Given the description of an element on the screen output the (x, y) to click on. 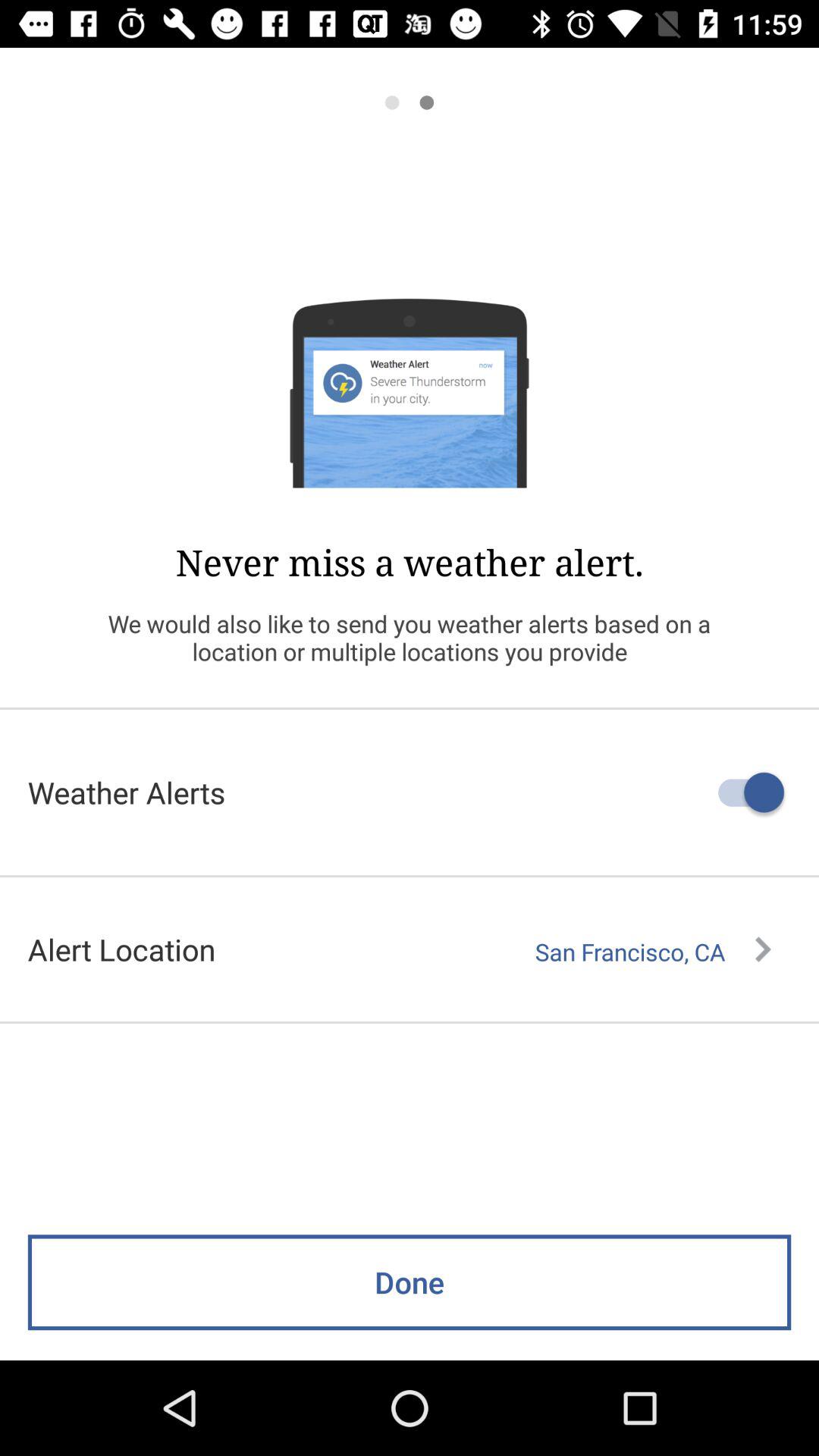
turn on san francisco, ca icon (653, 951)
